Given the description of an element on the screen output the (x, y) to click on. 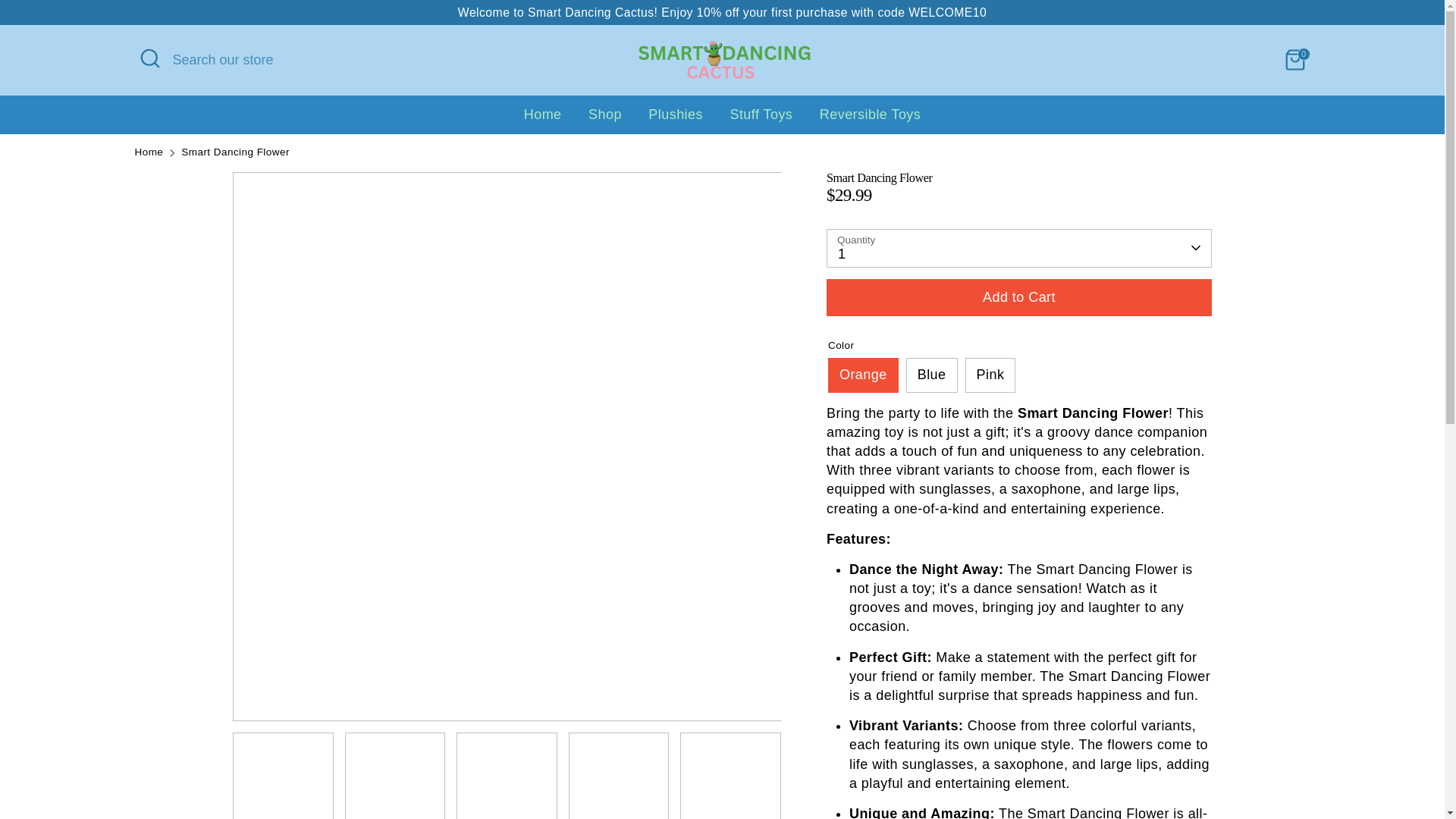
PayPal (1263, 770)
Smart Dancing Flower (234, 152)
Plushies (675, 119)
JCB (1203, 770)
0 (1294, 60)
Diners Club (1142, 770)
Shop (604, 119)
Home (149, 152)
American Express (1111, 770)
Home (542, 119)
